Given the description of an element on the screen output the (x, y) to click on. 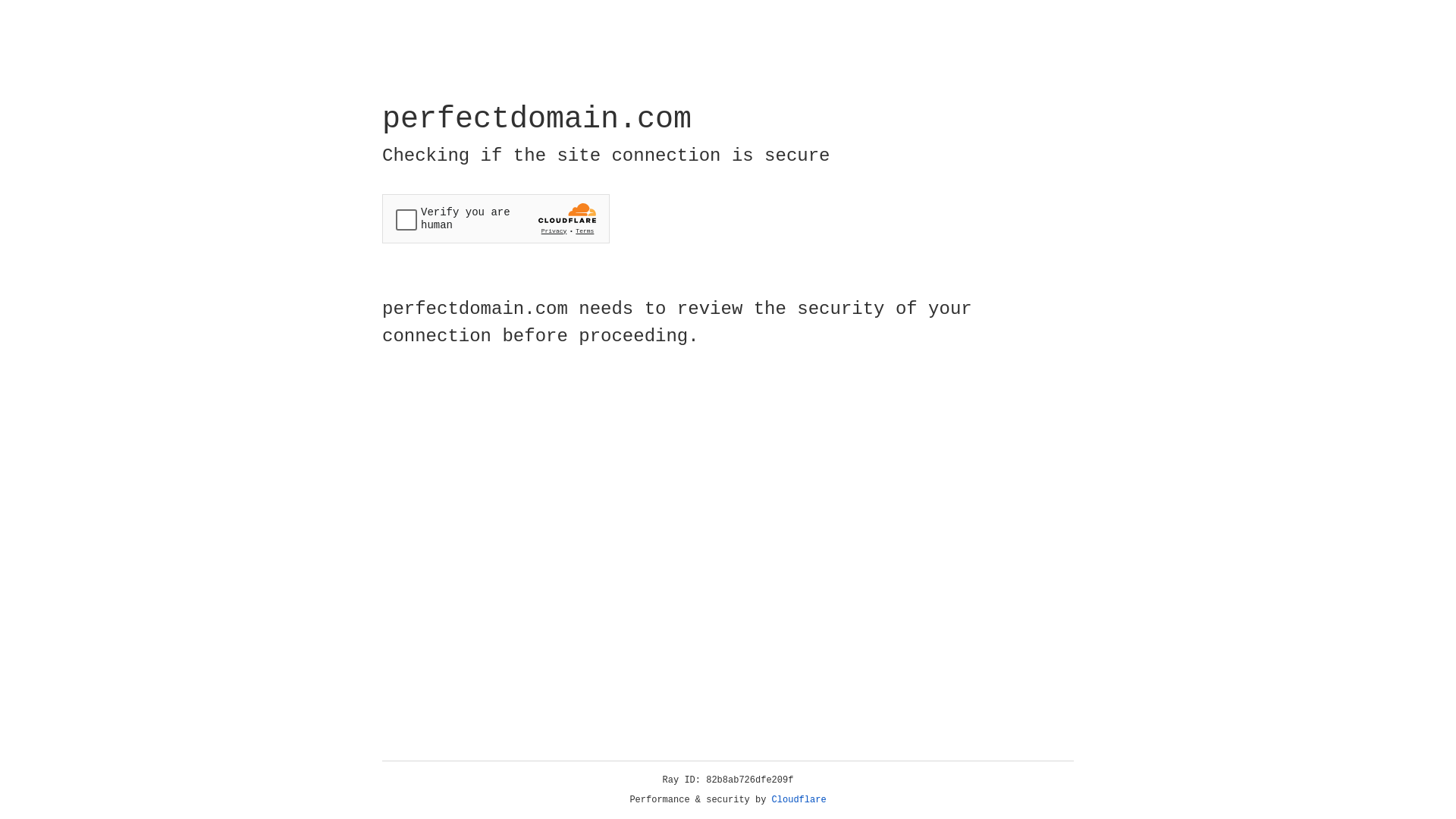
Cloudflare Element type: text (798, 799)
Widget containing a Cloudflare security challenge Element type: hover (495, 218)
